Given the description of an element on the screen output the (x, y) to click on. 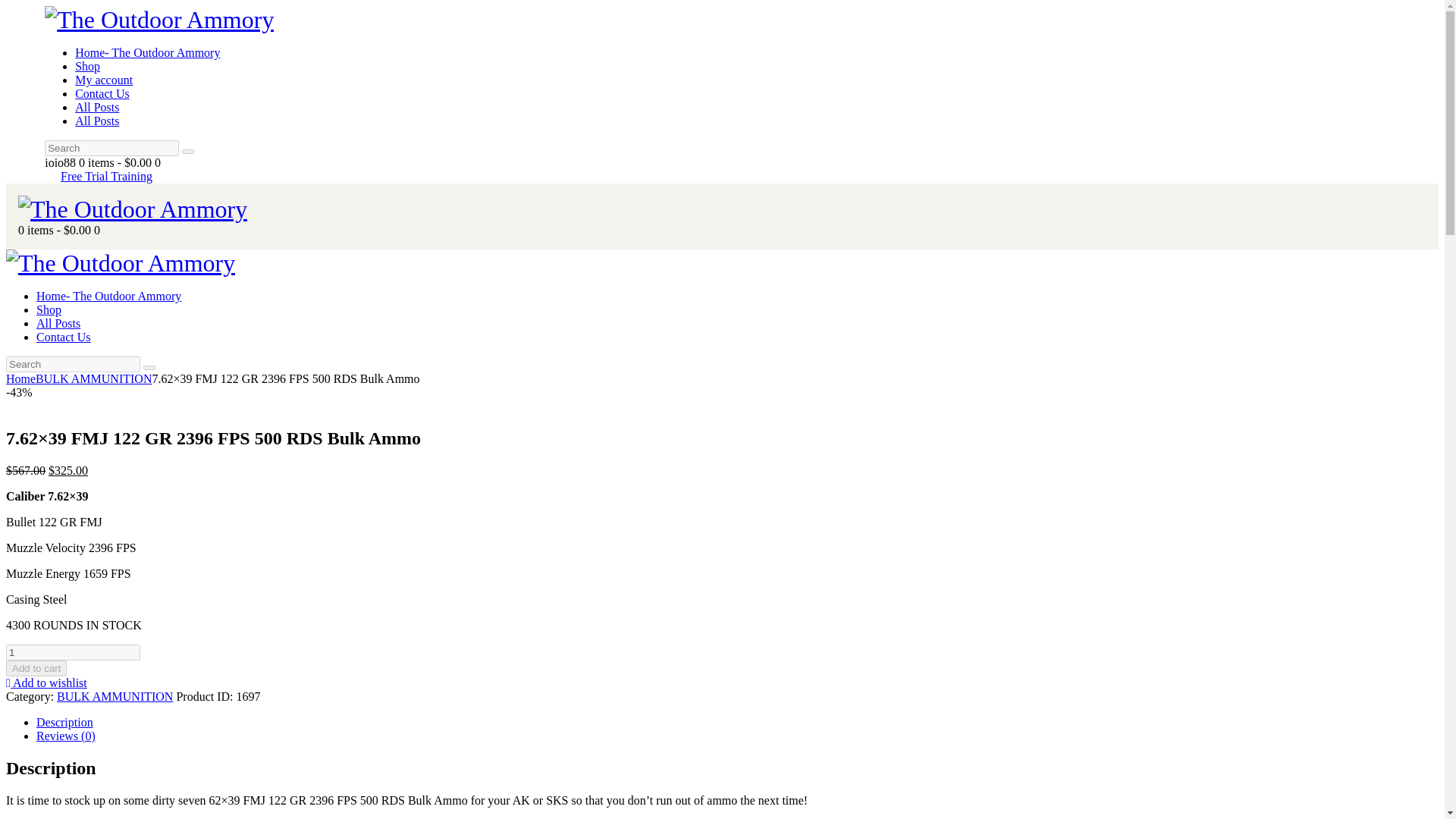
1 (72, 652)
Shop (87, 65)
Shop (48, 309)
BULK AMMUNITION (114, 696)
BULK AMMUNITION (92, 378)
Home- The Outdoor Ammory (147, 51)
My account (103, 79)
Home (19, 378)
All Posts (58, 323)
Description (64, 721)
